Given the description of an element on the screen output the (x, y) to click on. 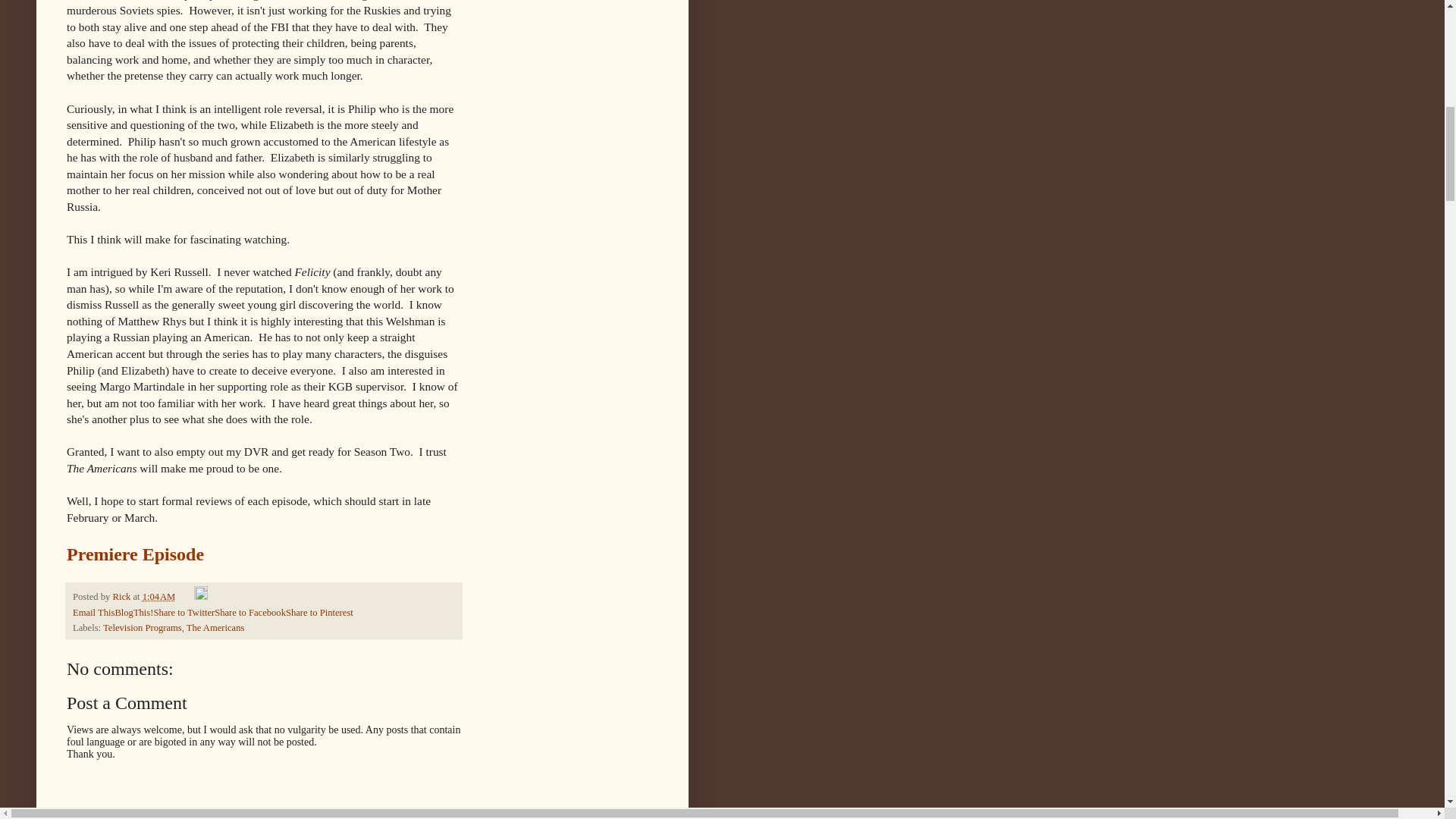
BlogThis! (133, 611)
Premiere Episode (134, 554)
Share to Pinterest (319, 611)
Email Post (185, 596)
BlogThis! (133, 611)
Television Programs (142, 627)
Share to Facebook (249, 611)
Edit Post (200, 596)
Email This (93, 611)
Rick (122, 596)
Share to Facebook (249, 611)
permanent link (159, 596)
Email This (93, 611)
Share to Pinterest (319, 611)
